Given the description of an element on the screen output the (x, y) to click on. 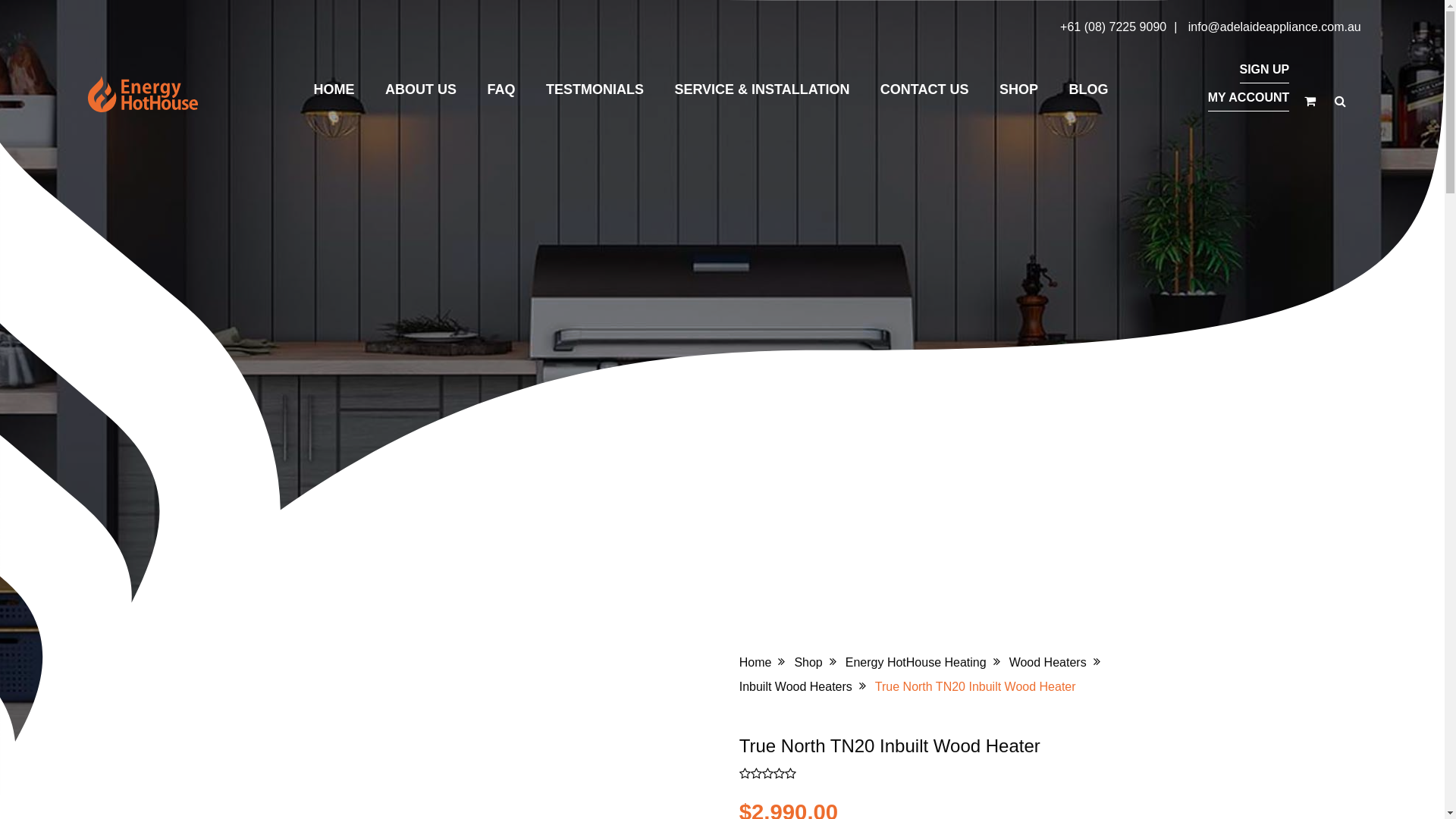
FAQ Element type: text (500, 89)
SHOP Element type: text (1018, 89)
HOME Element type: text (333, 89)
Home Element type: text (755, 661)
MY ACCOUNT Element type: text (1248, 97)
BLOG Element type: text (1087, 89)
info@adelaideappliance.com.au Element type: text (1274, 26)
TESTMONIALS Element type: text (594, 89)
+61 (08) 7225 9090 Element type: text (1113, 26)
CONTACT US Element type: text (924, 89)
Energy HotHouse Heating Element type: text (915, 661)
SIGN UP Element type: text (1264, 69)
Search Element type: text (20, 12)
Shop Element type: text (807, 661)
ABOUT US Element type: text (420, 89)
SERVICE & INSTALLATION Element type: text (761, 89)
Inbuilt Wood Heaters Element type: text (795, 686)
Wood Heaters Element type: text (1047, 661)
